Given the description of an element on the screen output the (x, y) to click on. 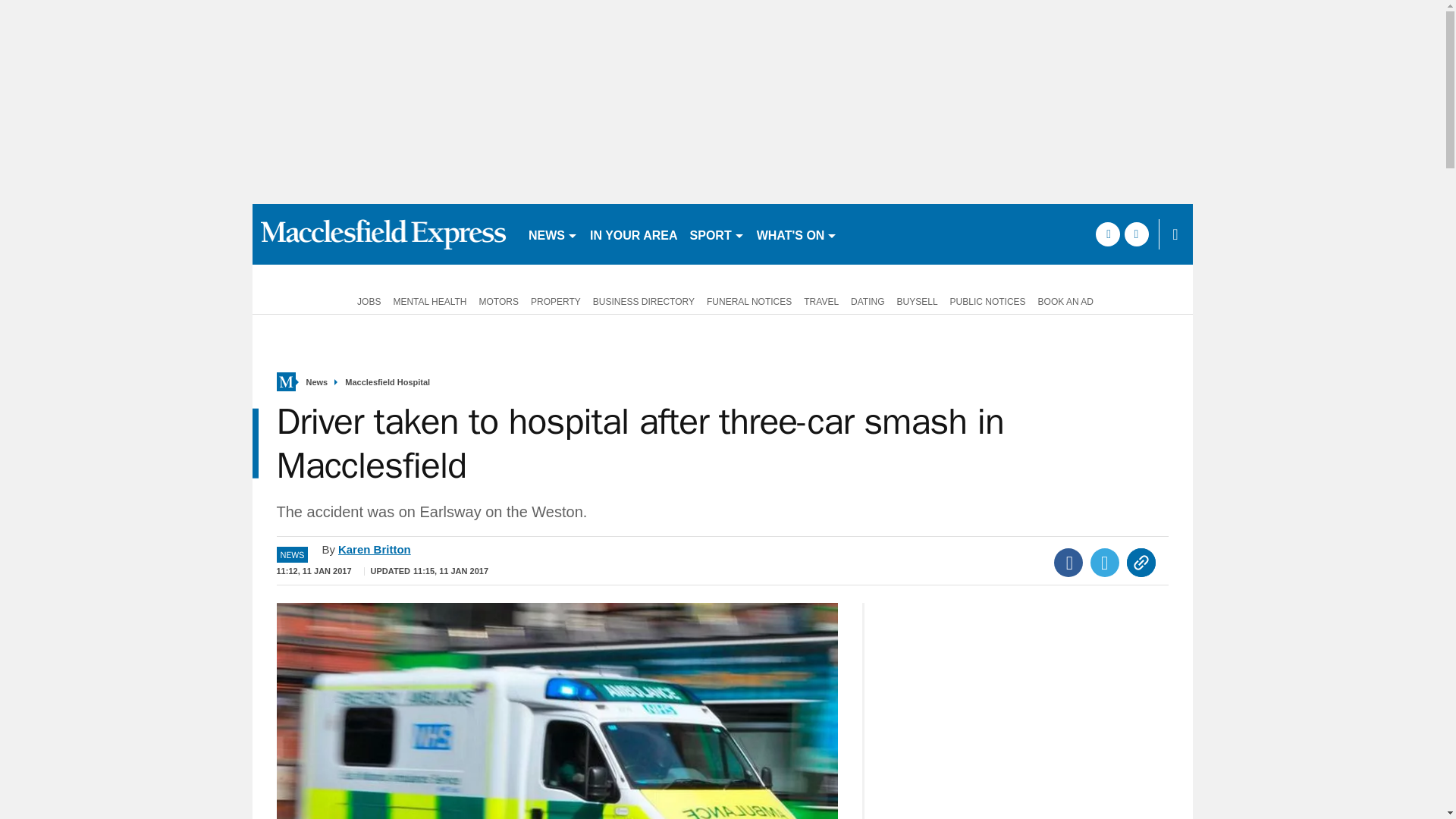
WHAT'S ON (797, 233)
SPORT (717, 233)
facebook (1106, 233)
Twitter (1104, 562)
Facebook (1068, 562)
MOTORS (498, 300)
MENTAL HEALTH (429, 300)
IN YOUR AREA (633, 233)
NEWS (552, 233)
PROPERTY (555, 300)
